Given the description of an element on the screen output the (x, y) to click on. 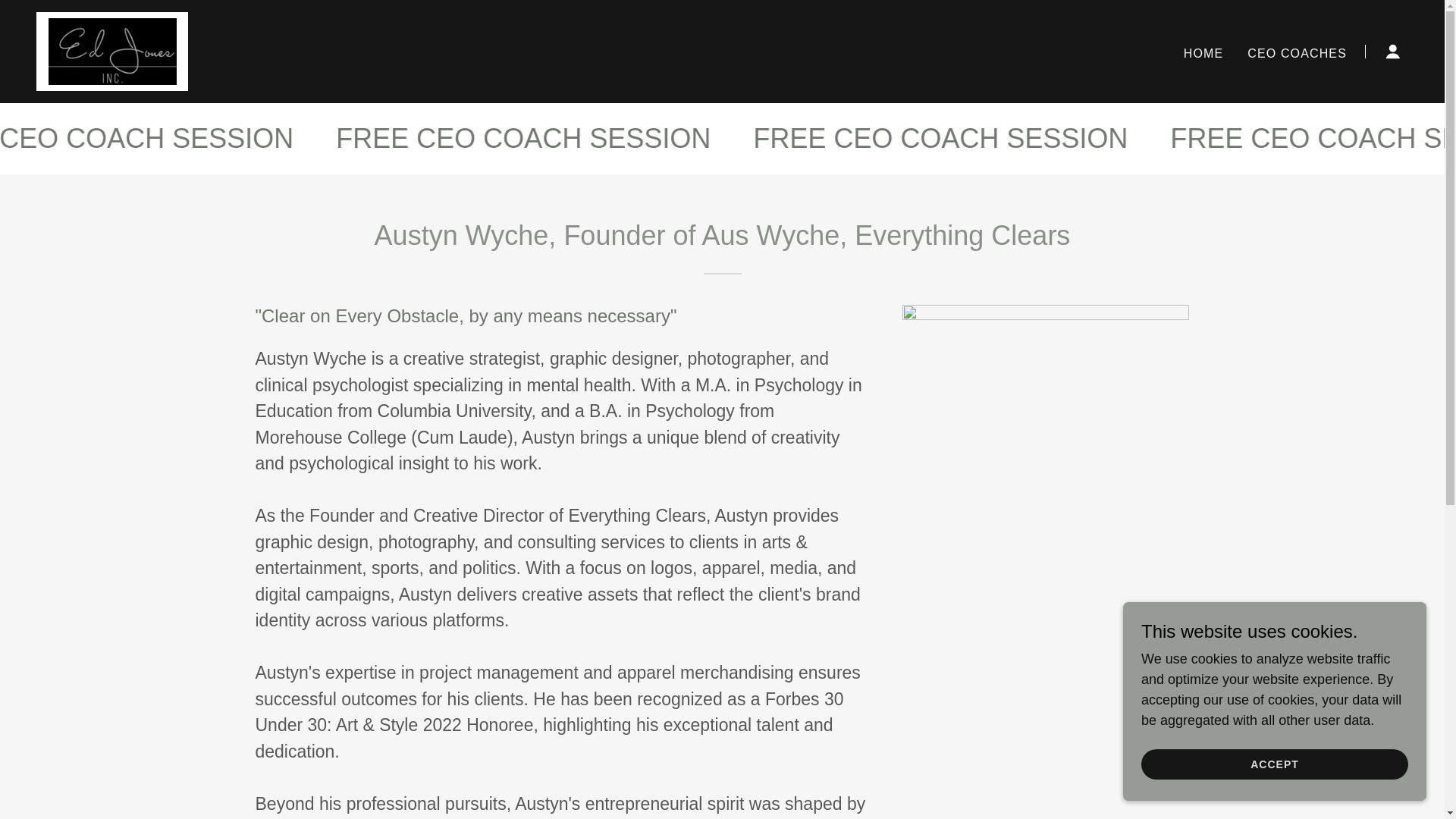
ACCEPT (1274, 764)
CEO COACHES (1297, 52)
Ed Jones, Inc. (111, 50)
HOME (1203, 52)
